Given the description of an element on the screen output the (x, y) to click on. 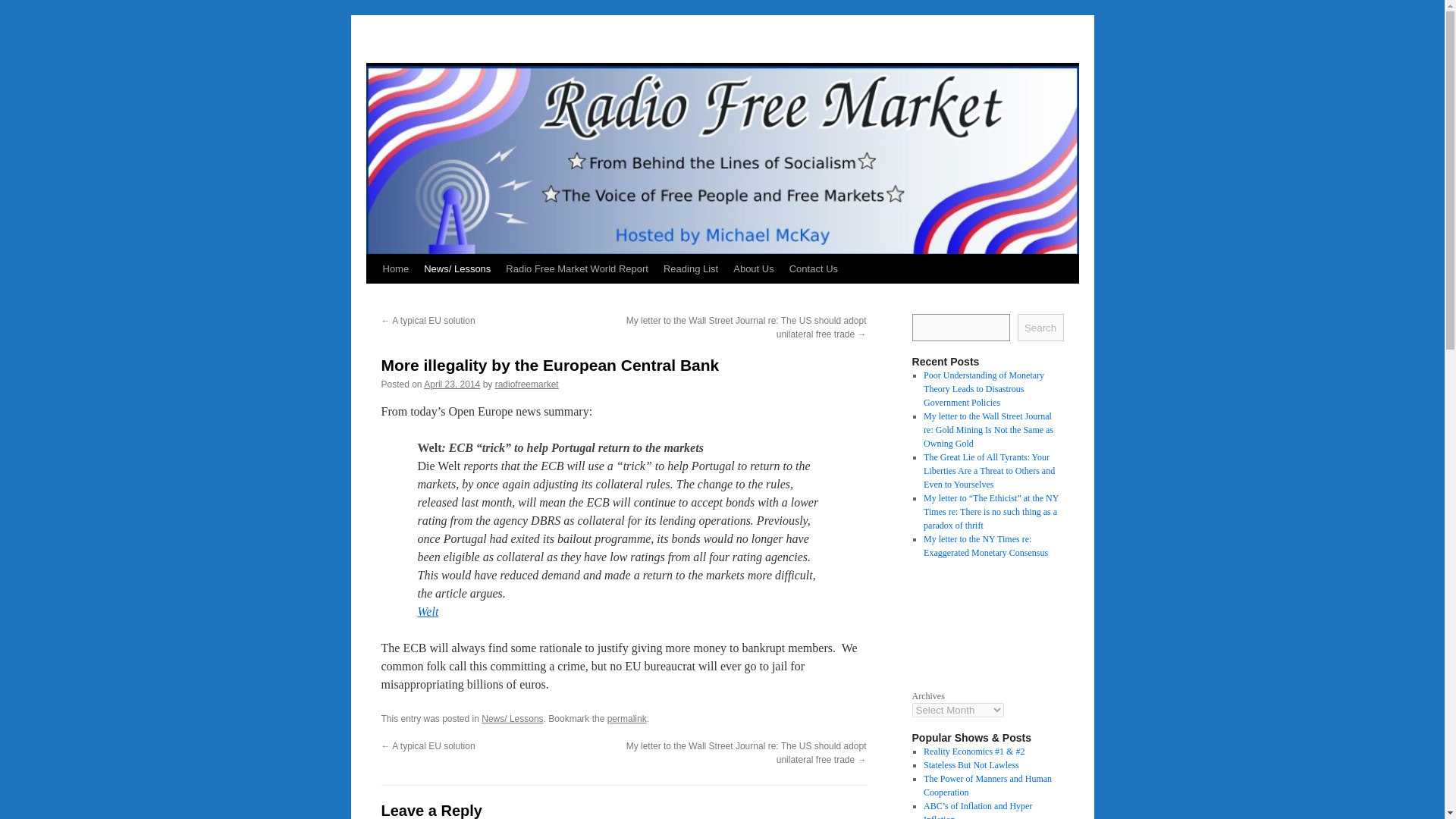
View all posts by radiofreemarket (527, 384)
Stateless But Not Lawless (971, 765)
The Power of Manners and Human Cooperation (987, 785)
Home (395, 268)
permalink (626, 718)
Search (1040, 327)
radiofreemarket (527, 384)
About Us (752, 268)
fb:page Facebook Social Plugin (986, 622)
Radio Free Market World Report (576, 268)
8:55 pm (451, 384)
Welt (427, 611)
